Given the description of an element on the screen output the (x, y) to click on. 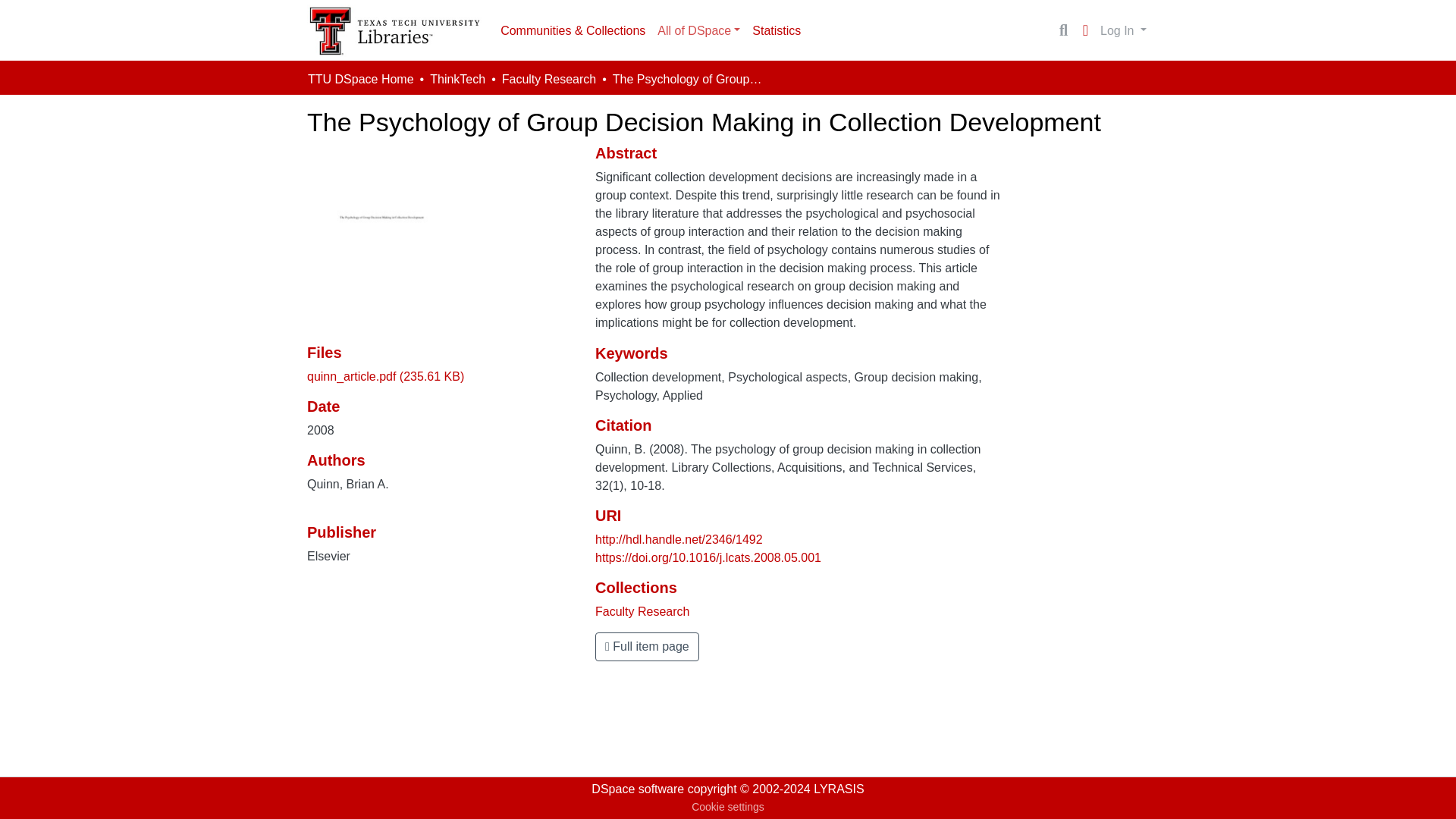
Full item page (646, 646)
Faculty Research (642, 611)
Search (1063, 30)
Statistics (775, 30)
TTU DSpace Home (360, 79)
ThinkTech (456, 79)
Faculty Research (549, 79)
All of DSpace (697, 30)
Cookie settings (727, 806)
DSpace software (637, 788)
Log In (1122, 30)
Language switch (1084, 30)
Statistics (775, 30)
LYRASIS (838, 788)
